Given the description of an element on the screen output the (x, y) to click on. 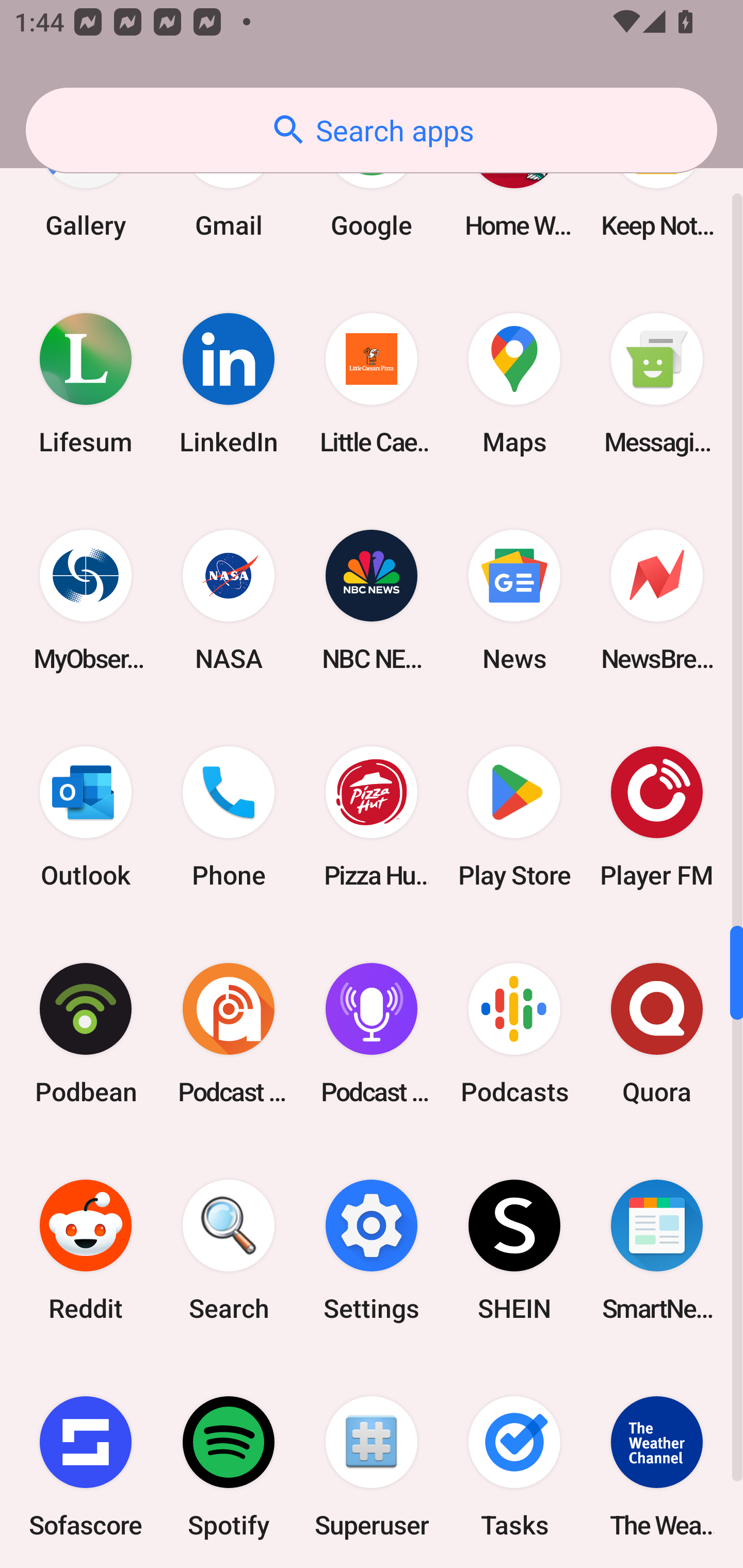
  Search apps (371, 130)
Lifesum (85, 383)
LinkedIn (228, 383)
Little Caesars Pizza (371, 383)
Maps (514, 383)
Messaging (656, 383)
MyObservatory (85, 600)
NASA (228, 600)
NBC NEWS (371, 600)
News (514, 600)
NewsBreak (656, 600)
Outlook (85, 816)
Phone (228, 816)
Pizza Hut HK & Macau (371, 816)
Play Store (514, 816)
Player FM (656, 816)
Podbean (85, 1033)
Podcast Addict (228, 1033)
Podcast Player (371, 1033)
Podcasts (514, 1033)
Quora (656, 1033)
Reddit (85, 1249)
Search (228, 1249)
Settings (371, 1249)
SHEIN (514, 1249)
SmartNews (656, 1249)
Sofascore (85, 1462)
Spotify (228, 1462)
Superuser (371, 1462)
Tasks (514, 1462)
The Weather Channel (656, 1462)
